Given the description of an element on the screen output the (x, y) to click on. 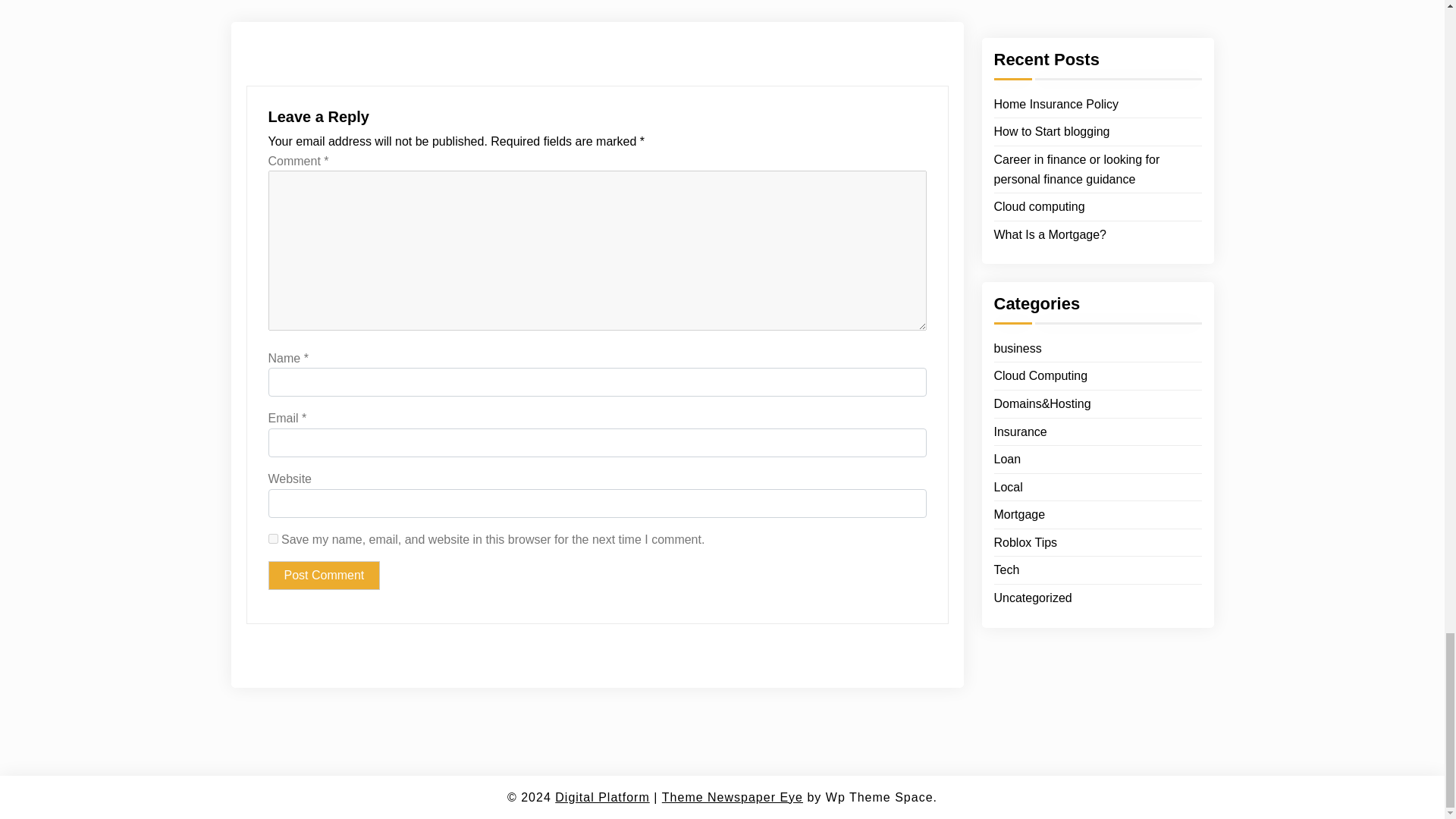
Post Comment (323, 575)
yes (272, 538)
Post Comment (323, 575)
